Given the description of an element on the screen output the (x, y) to click on. 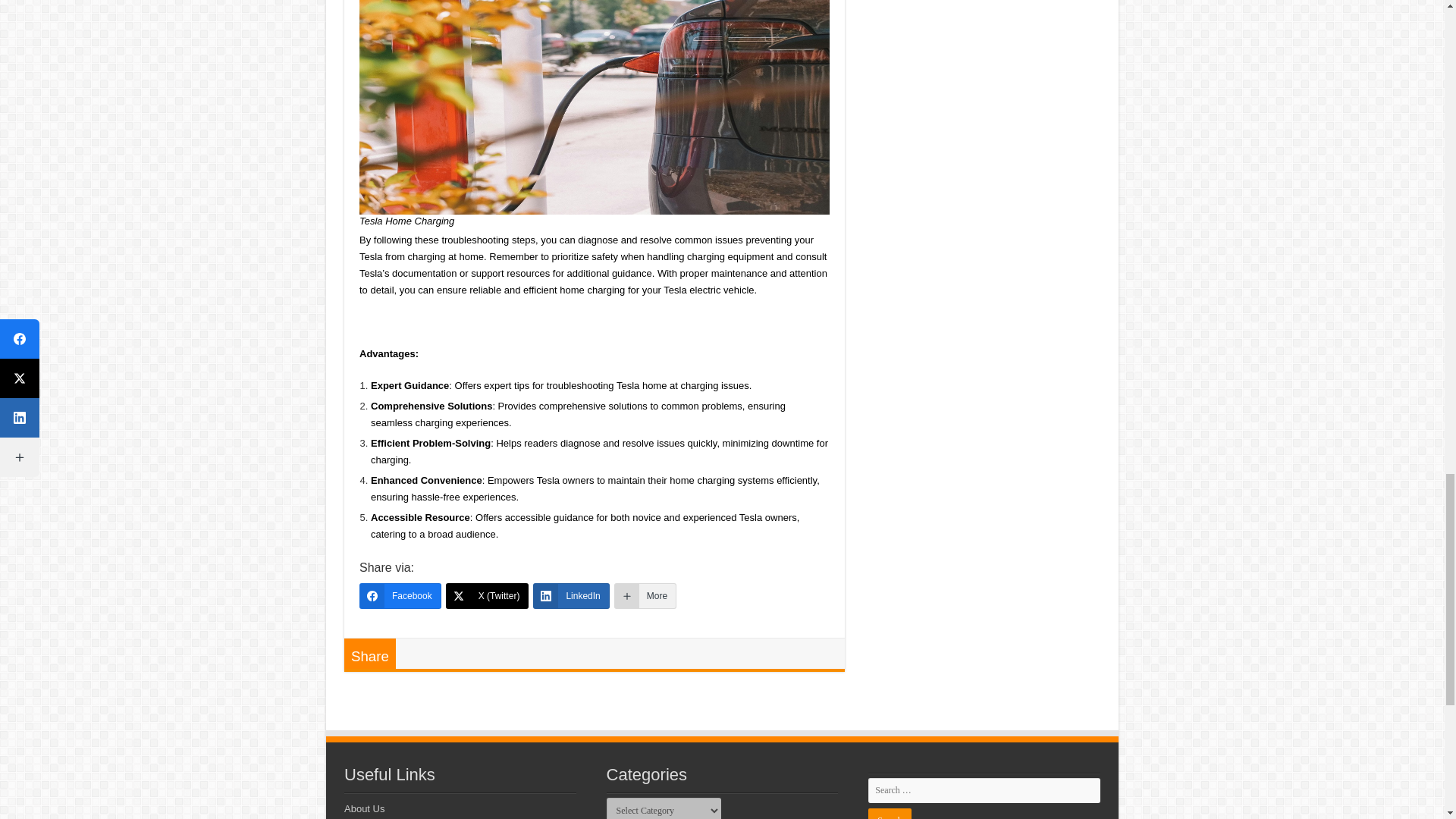
Search (889, 813)
Search (889, 813)
